Given the description of an element on the screen output the (x, y) to click on. 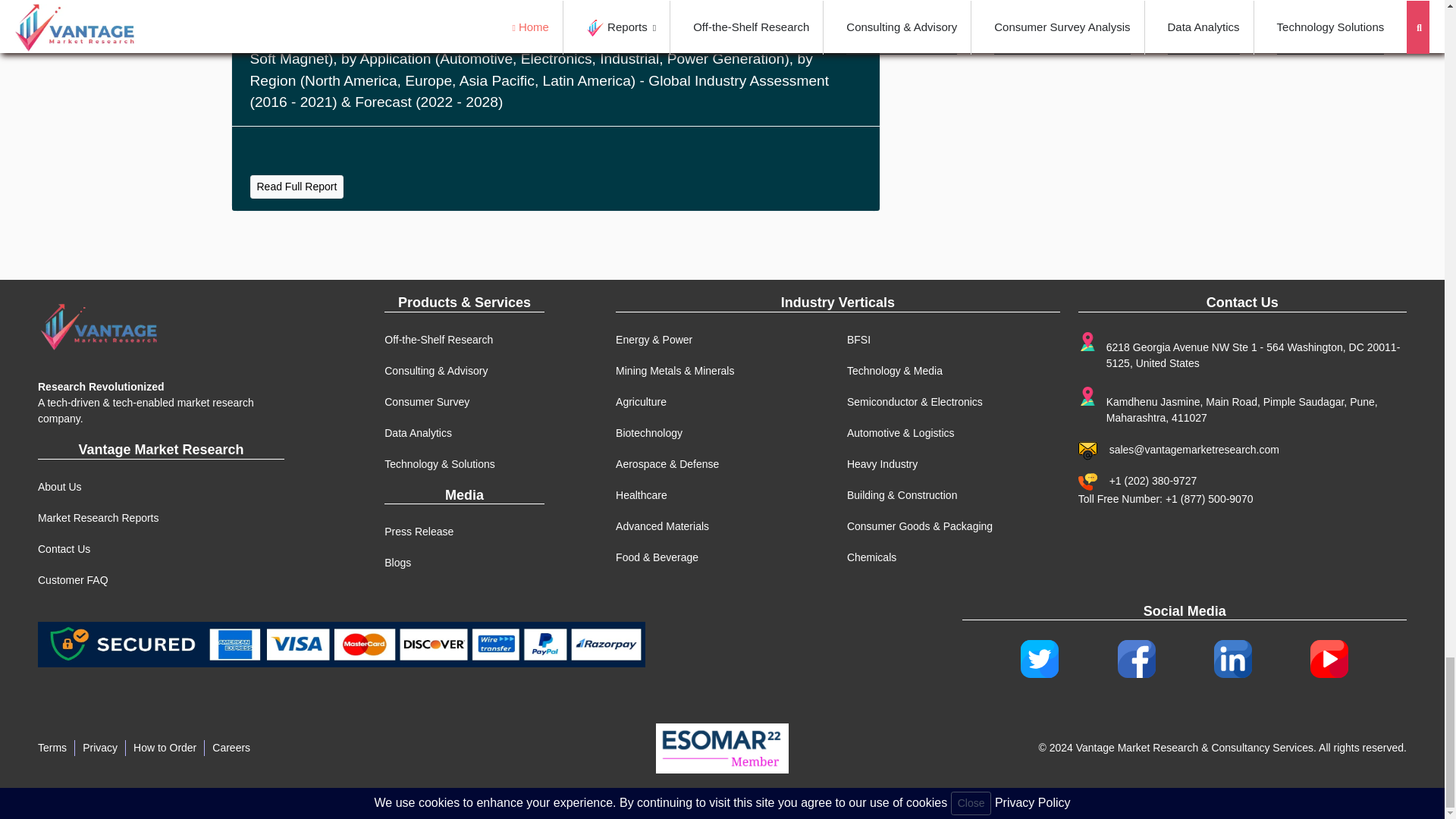
Read Full Report (296, 187)
